Given the description of an element on the screen output the (x, y) to click on. 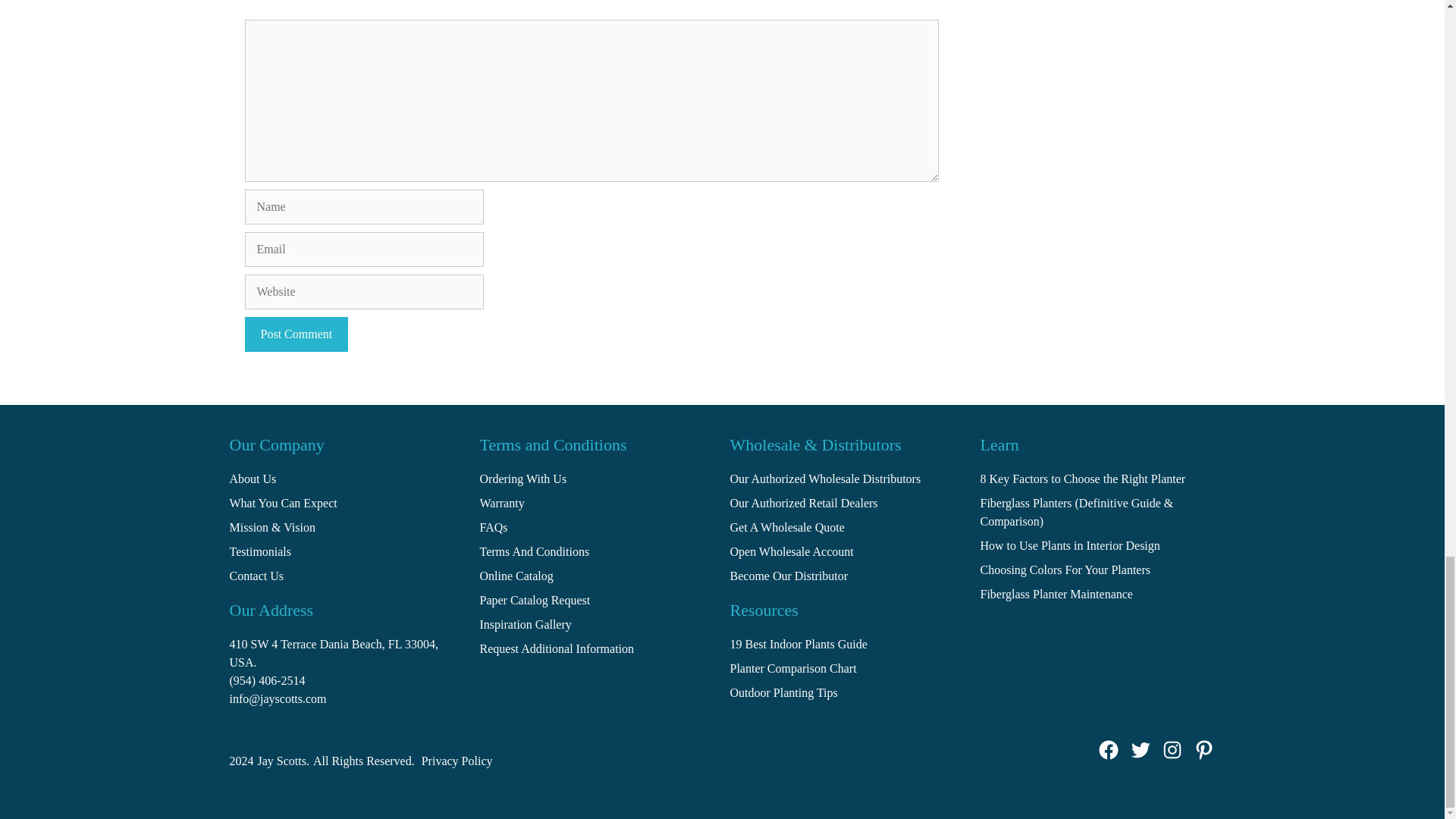
Post Comment (295, 334)
